Given the description of an element on the screen output the (x, y) to click on. 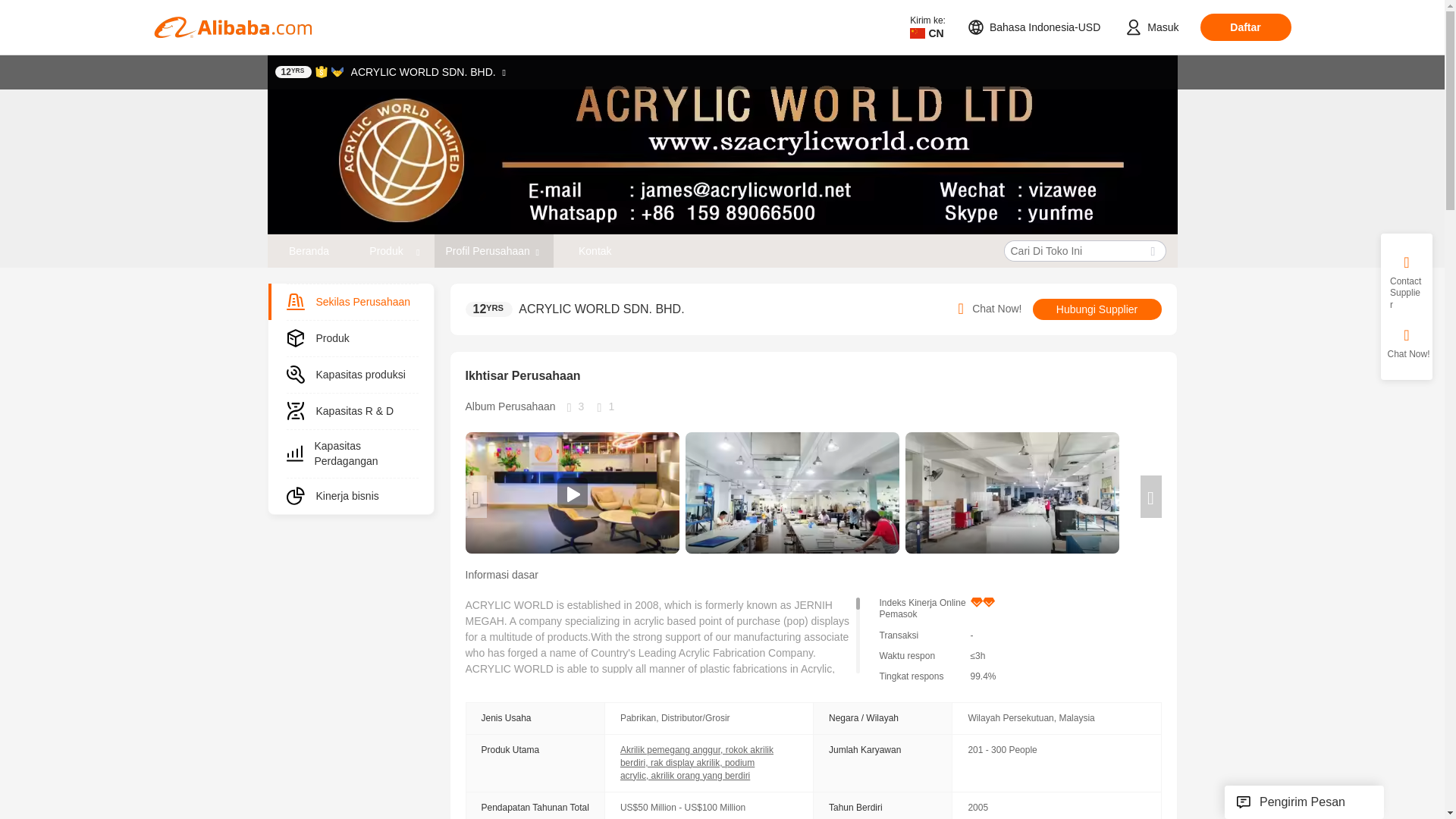
Produk (391, 250)
Beranda (309, 250)
What is Gold Supplier? (293, 71)
12YRS (293, 71)
Produk (386, 250)
Beranda (308, 250)
